Given the description of an element on the screen output the (x, y) to click on. 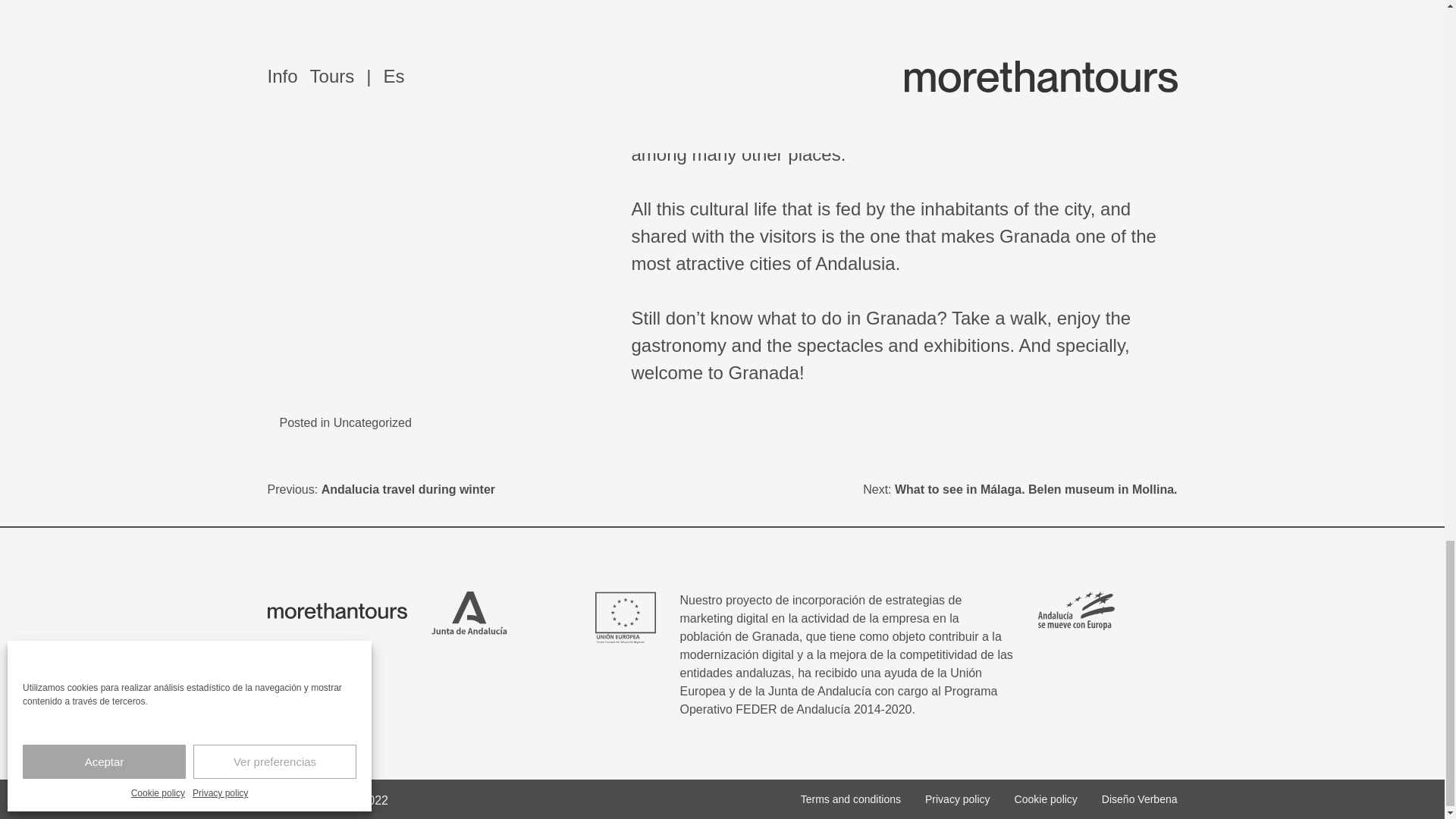
Casa de los Tiros, (774, 127)
Previous: Andalucia travel during winter (380, 489)
Corrala de Santiago (932, 127)
Cookie policy (1045, 799)
Privacy policy (957, 799)
Terms and conditions (850, 799)
La Madraza, (1095, 127)
